Given the description of an element on the screen output the (x, y) to click on. 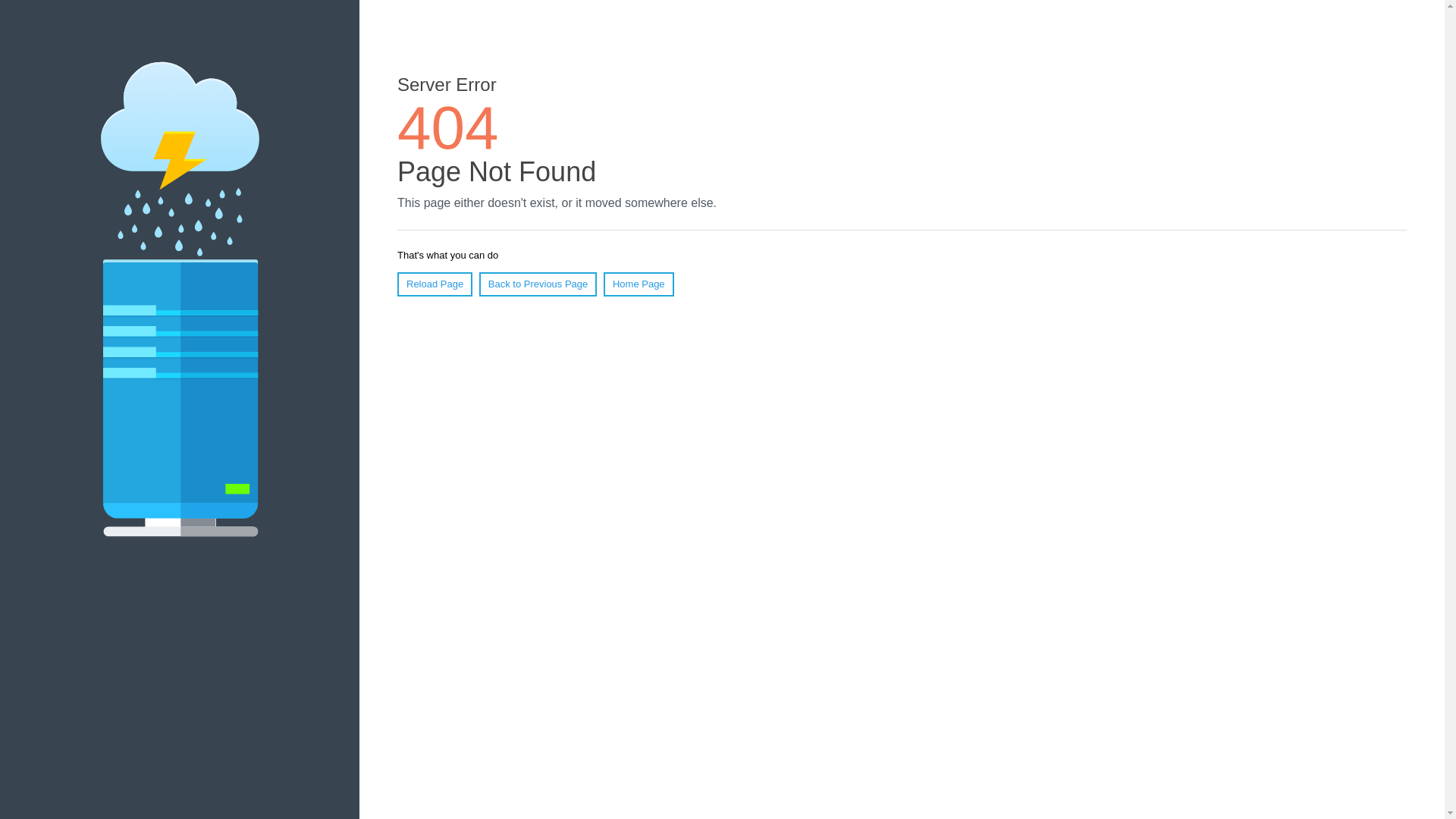
Home Page (639, 283)
Reload Page (434, 283)
Back to Previous Page (537, 283)
